Given the description of an element on the screen output the (x, y) to click on. 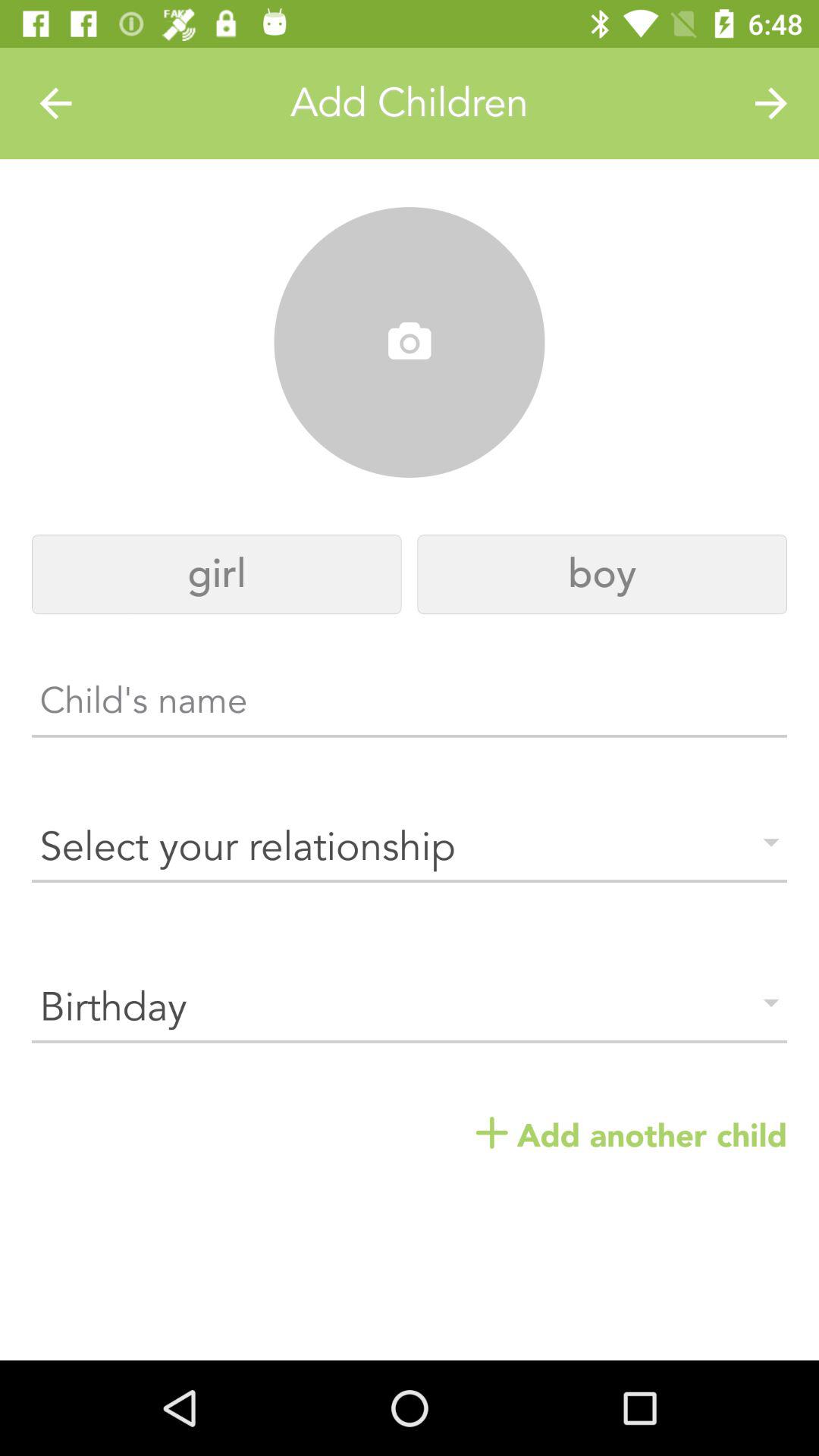
turn on item at the bottom right corner (631, 1135)
